Given the description of an element on the screen output the (x, y) to click on. 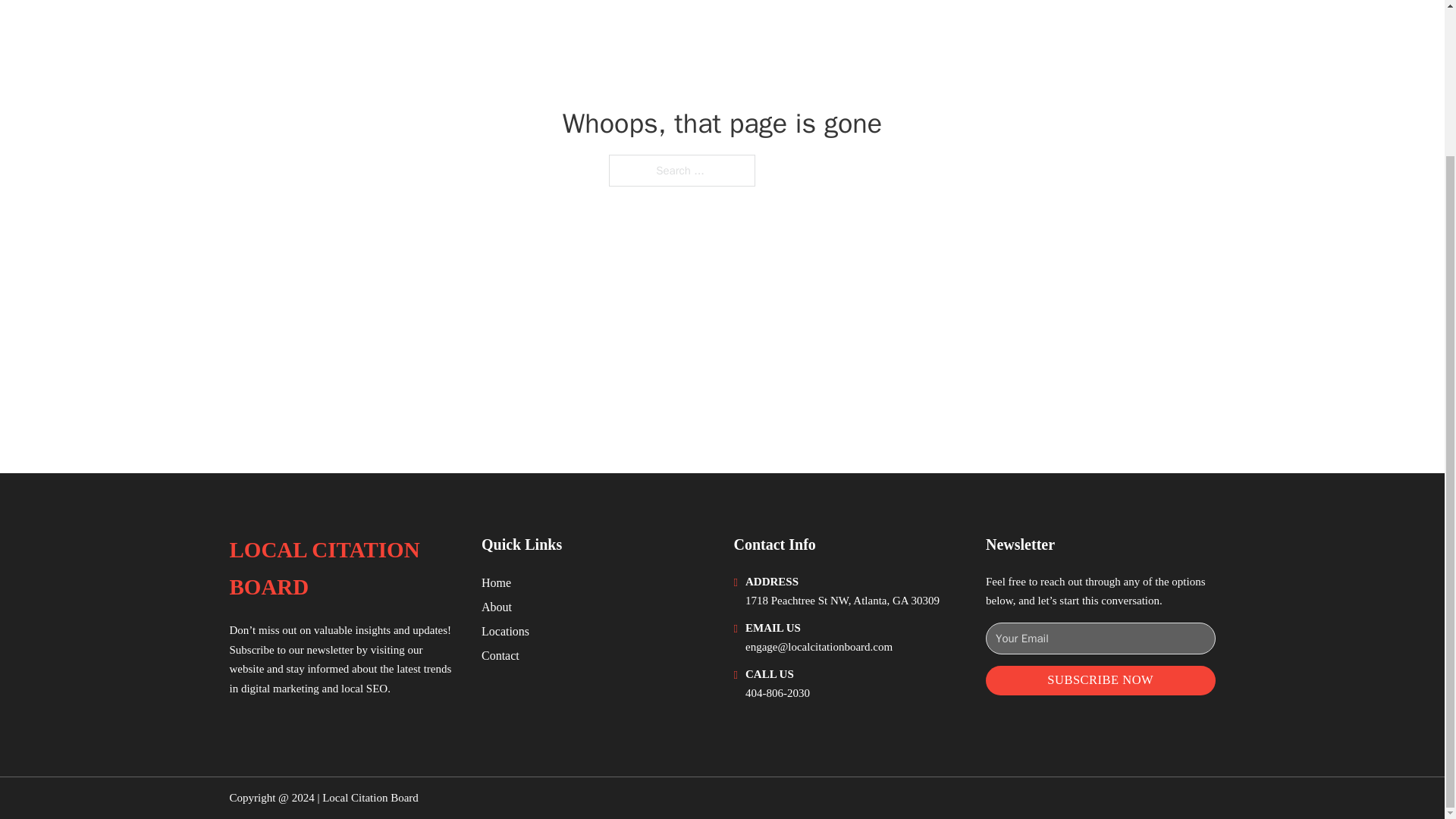
Contact (500, 655)
404-806-2030 (777, 693)
SUBSCRIBE NOW (1100, 680)
Home (496, 582)
About (496, 607)
LOCAL CITATION BOARD (343, 568)
Locations (505, 630)
